Given the description of an element on the screen output the (x, y) to click on. 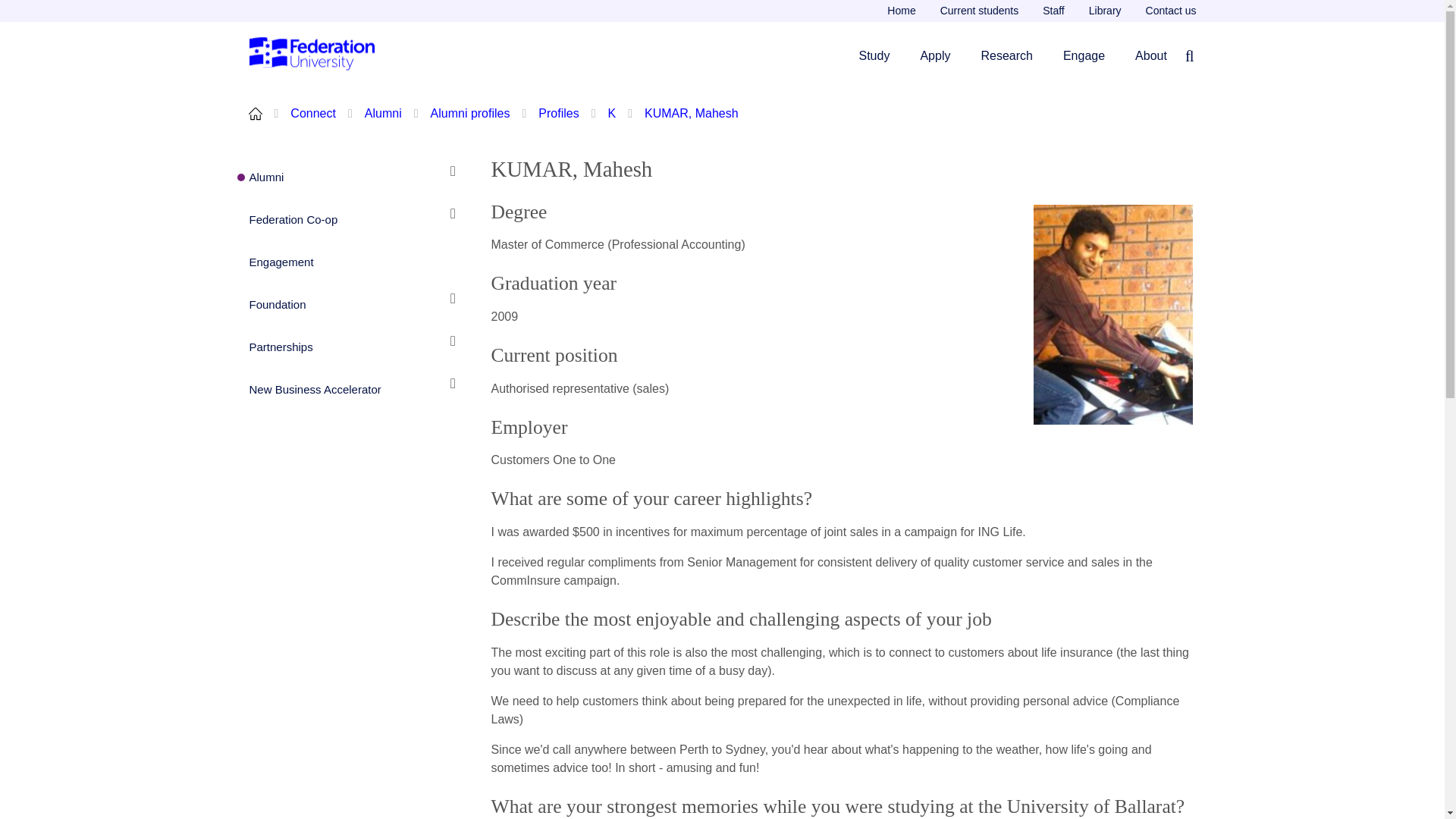
Current students (979, 11)
Contact us (1165, 11)
Study (873, 55)
Federation University Australia (311, 55)
Apply (935, 55)
Library (1105, 11)
Home (901, 11)
Staff (1053, 11)
